Given the description of an element on the screen output the (x, y) to click on. 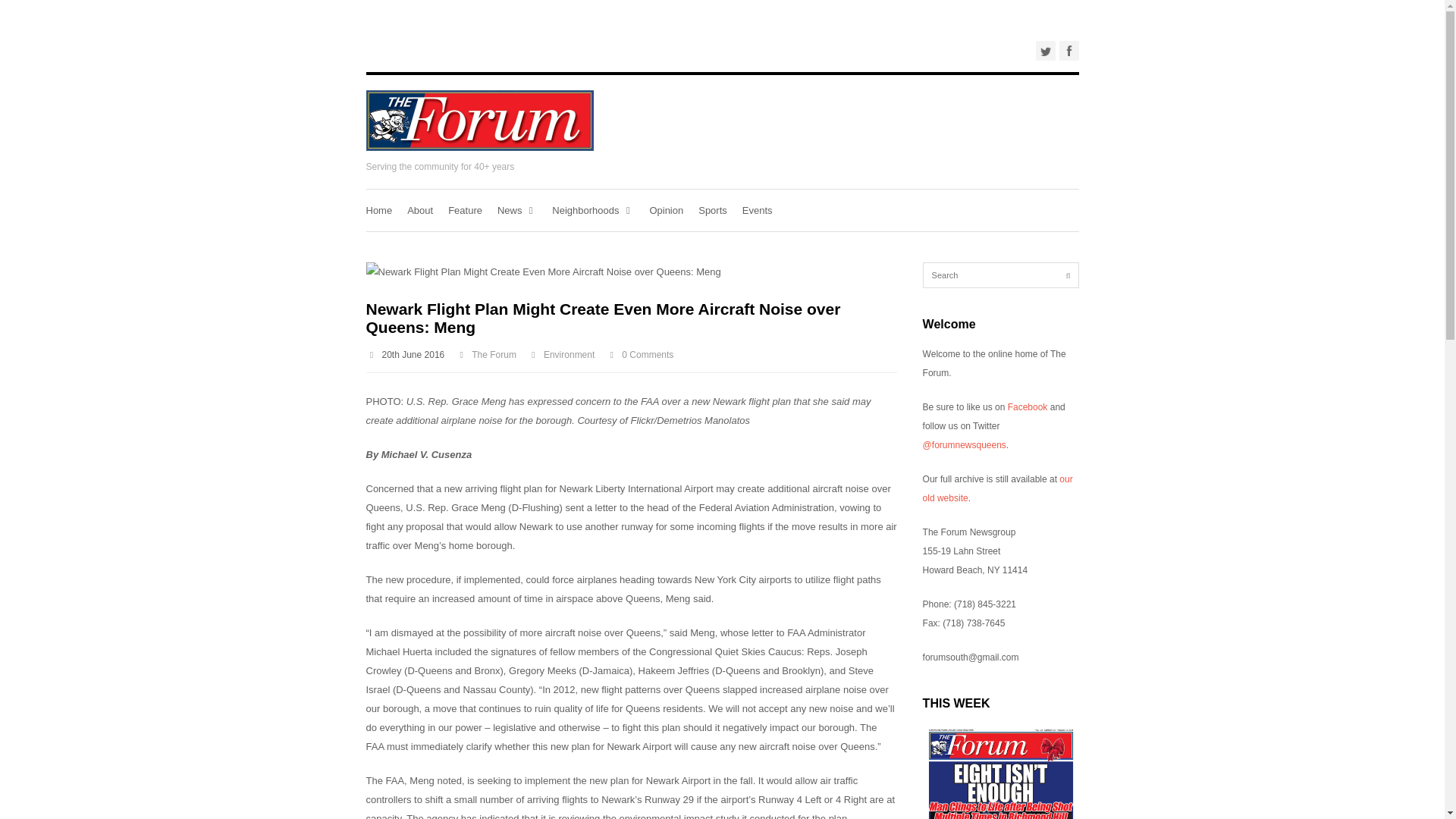
0 Comments (646, 354)
The Forum (493, 354)
twitter (1045, 50)
The Forum Newsgroup (479, 147)
facebook (1068, 50)
Environment (568, 354)
News (517, 209)
Posts by The Forum (493, 354)
Neighborhoods (592, 209)
